Given the description of an element on the screen output the (x, y) to click on. 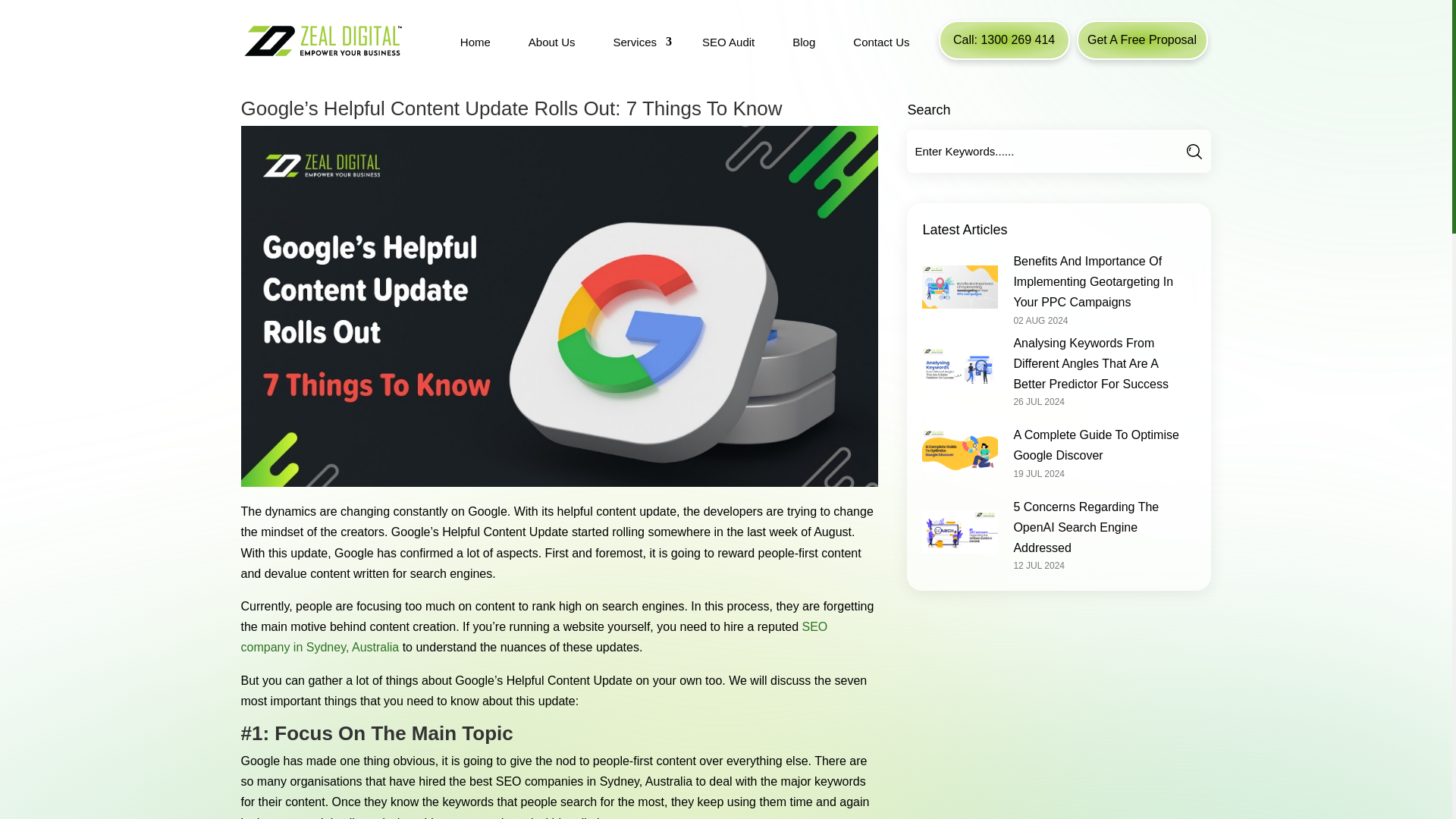
Services (638, 43)
SEO company in Sydney, Australia (534, 636)
Home (474, 43)
Get A Free Proposal (1142, 39)
Zeal-Logo-tm (321, 40)
A Complete Guide To Optimise Google Discover (1095, 444)
Call: 1300 269 414 (1004, 39)
About Us (552, 43)
SEO Audit (727, 43)
